Given the description of an element on the screen output the (x, y) to click on. 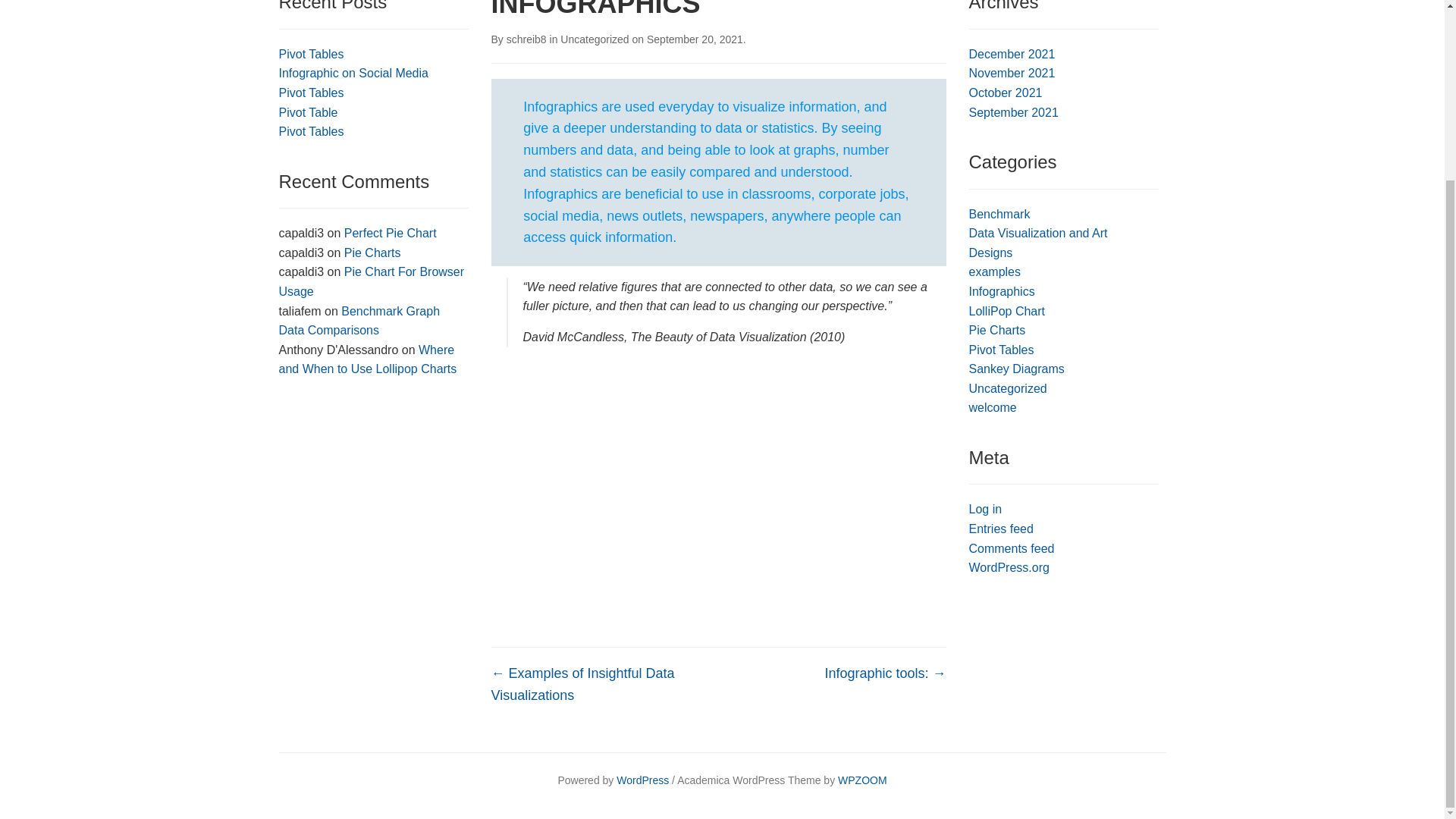
Sankey Diagrams (1016, 368)
Pivot Tables (1001, 349)
September 20, 2021 (694, 39)
Pie Chart For Browser Usage (371, 281)
WPZOOM (862, 779)
Benchmark Graph Data Comparisons (360, 320)
Pie Charts (372, 252)
Uncategorized (1007, 388)
Pivot Tables (311, 92)
Uncategorized (594, 39)
